Given the description of an element on the screen output the (x, y) to click on. 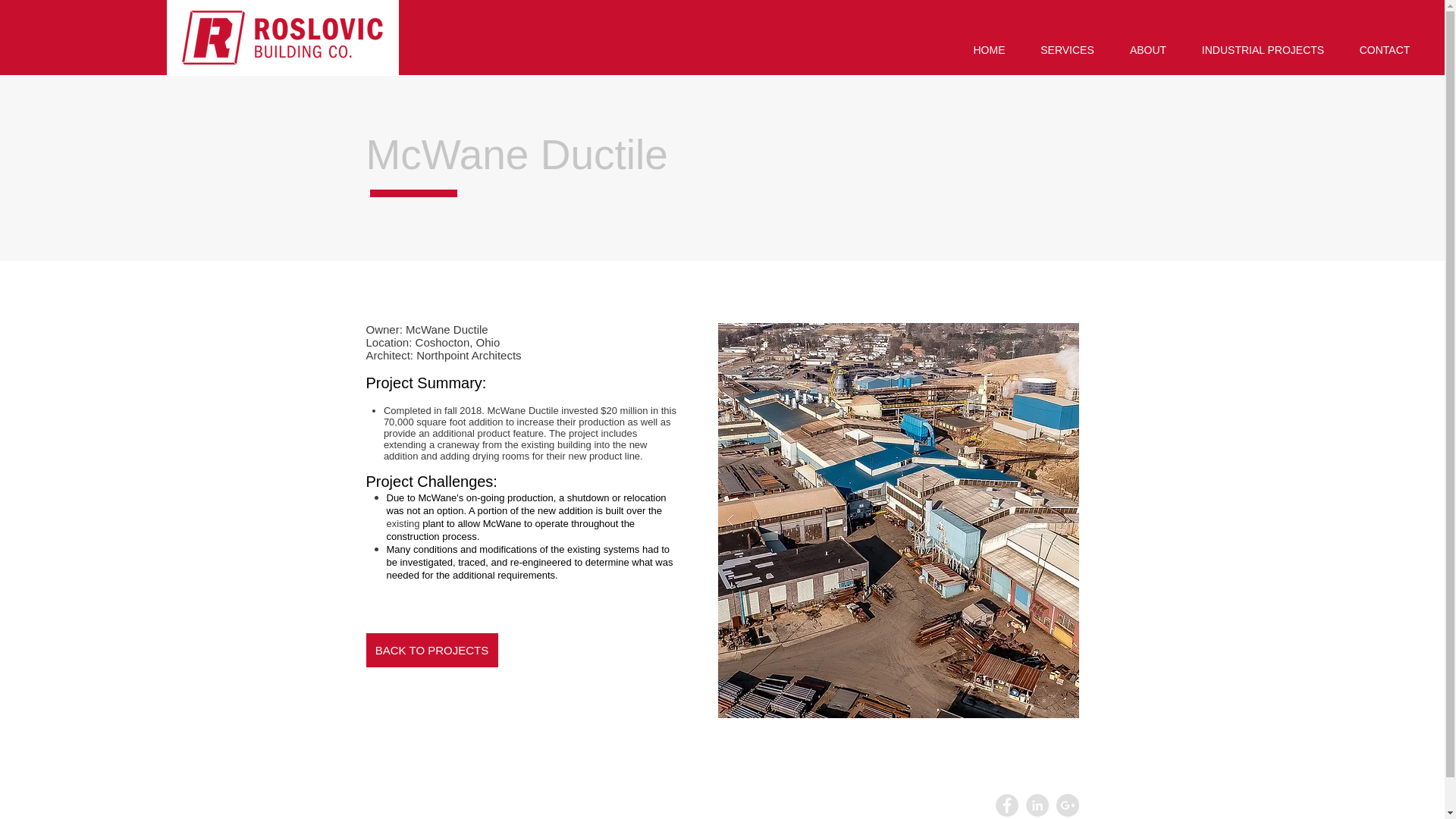
BACK TO PROJECTS (431, 650)
HOME (989, 50)
ABOUT (1147, 50)
INDUSTRIAL PROJECTS (1262, 50)
CONTACT (1384, 50)
SERVICES (1067, 50)
